Given the description of an element on the screen output the (x, y) to click on. 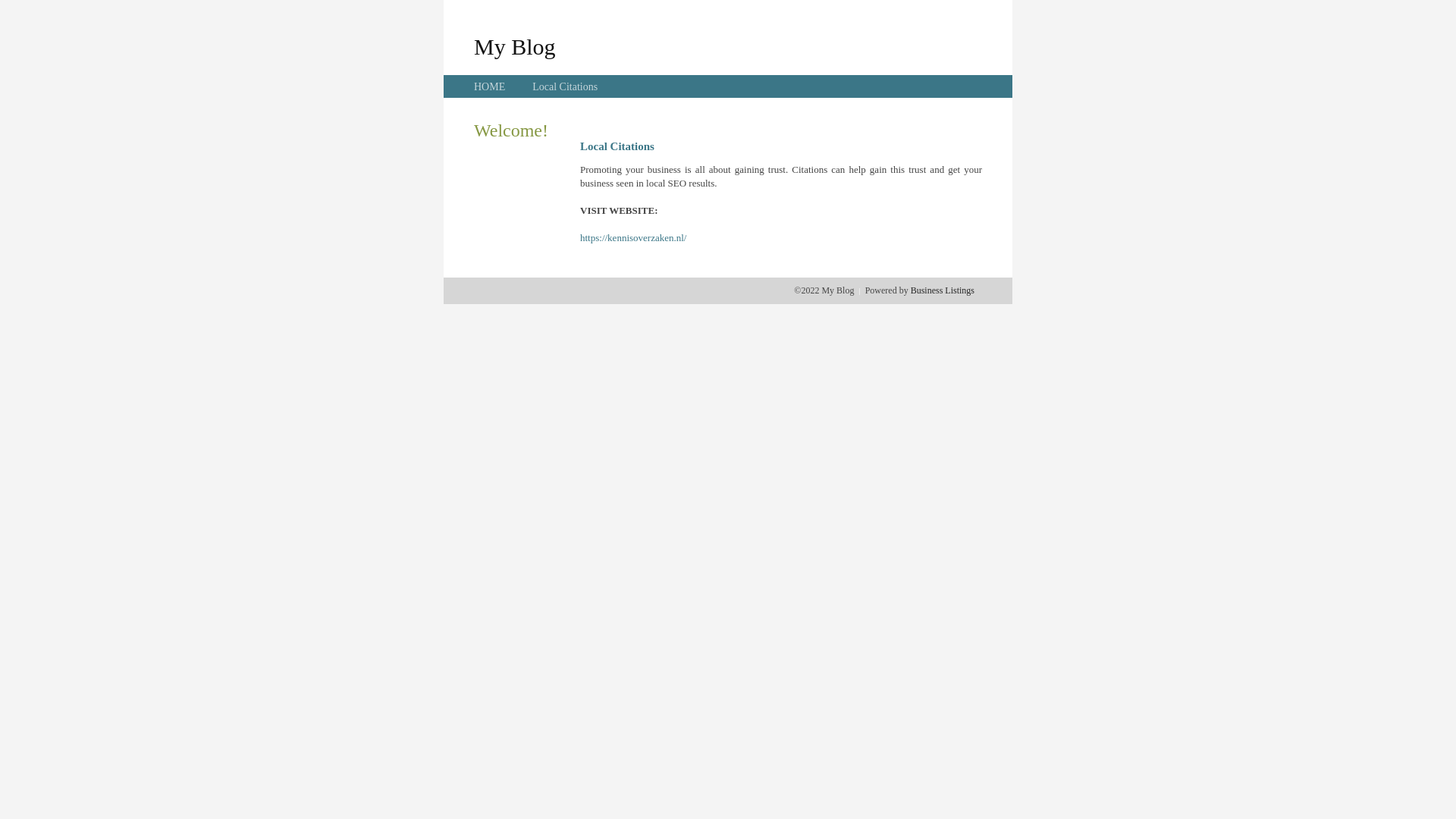
HOME Element type: text (489, 86)
Business Listings Element type: text (942, 290)
Local Citations Element type: text (564, 86)
My Blog Element type: text (514, 46)
https://kennisoverzaken.nl/ Element type: text (633, 237)
